Given the description of an element on the screen output the (x, y) to click on. 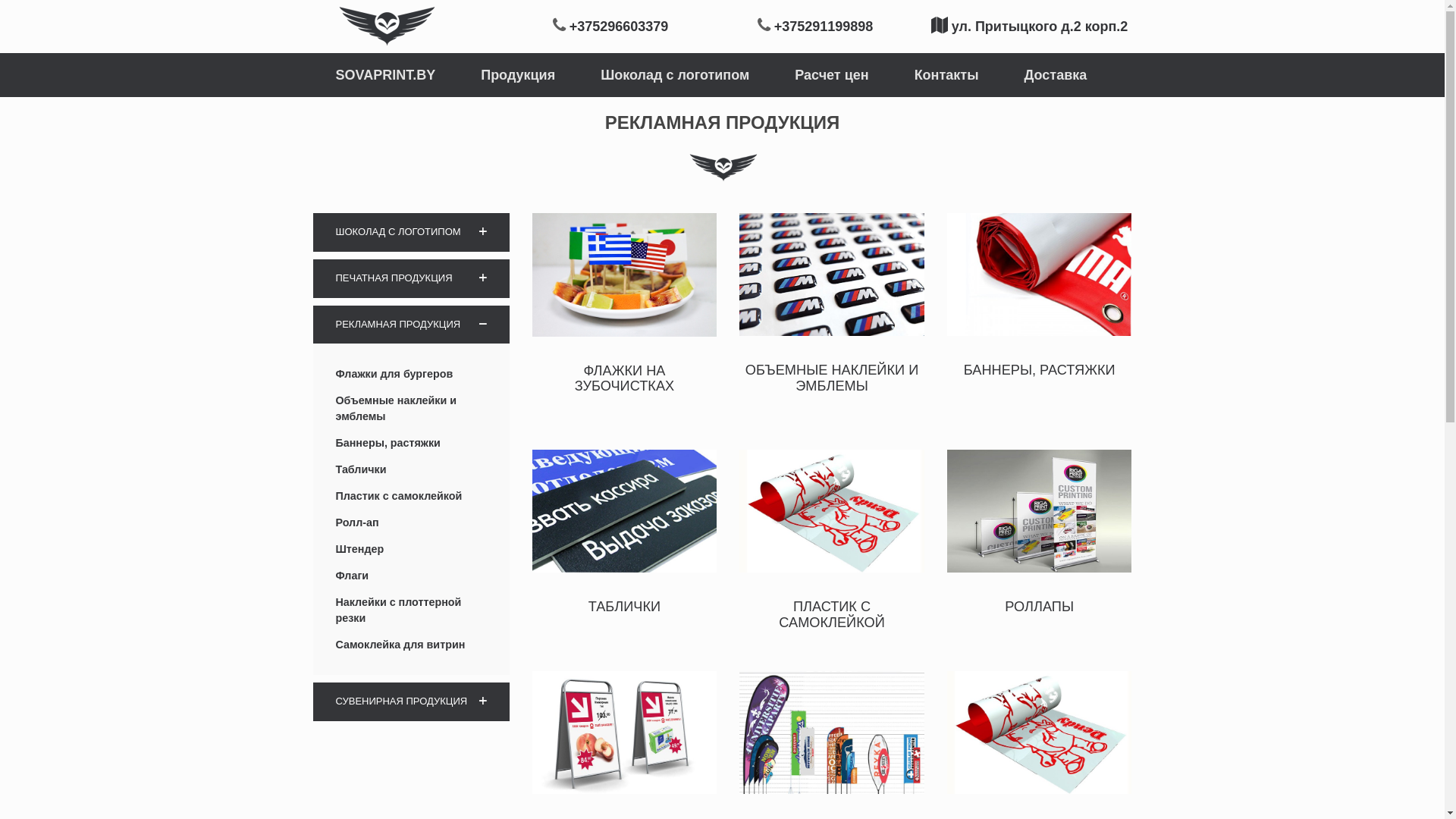
+375296603379 Element type: text (618, 26)
SOVAPRINT.BY Element type: text (385, 75)
+375291199898 Element type: text (823, 26)
